Given the description of an element on the screen output the (x, y) to click on. 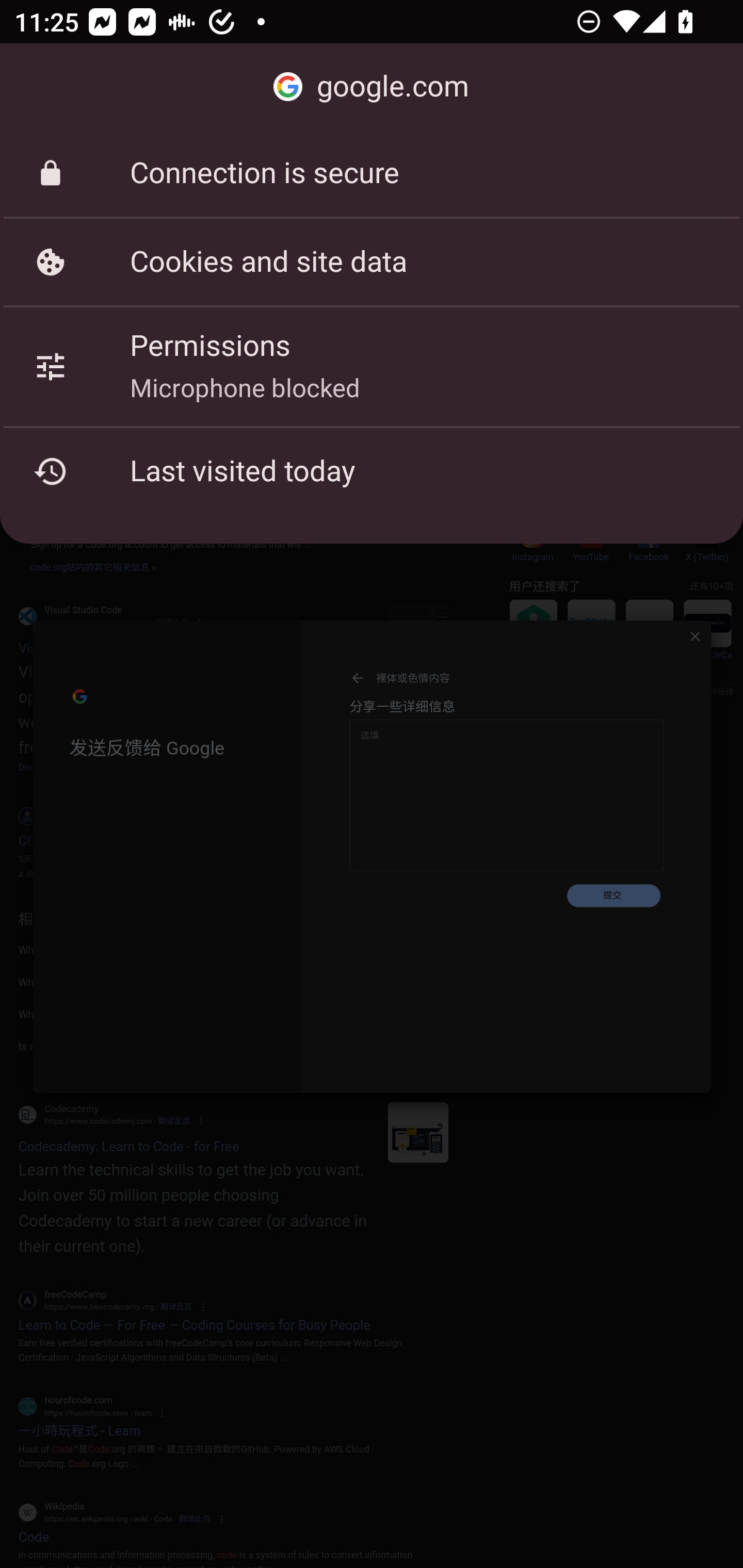
google.com (371, 86)
Connection is secure (371, 173)
Cookies and site data (371, 261)
Permissions Microphone blocked (371, 366)
Last visited today (371, 471)
